Given the description of an element on the screen output the (x, y) to click on. 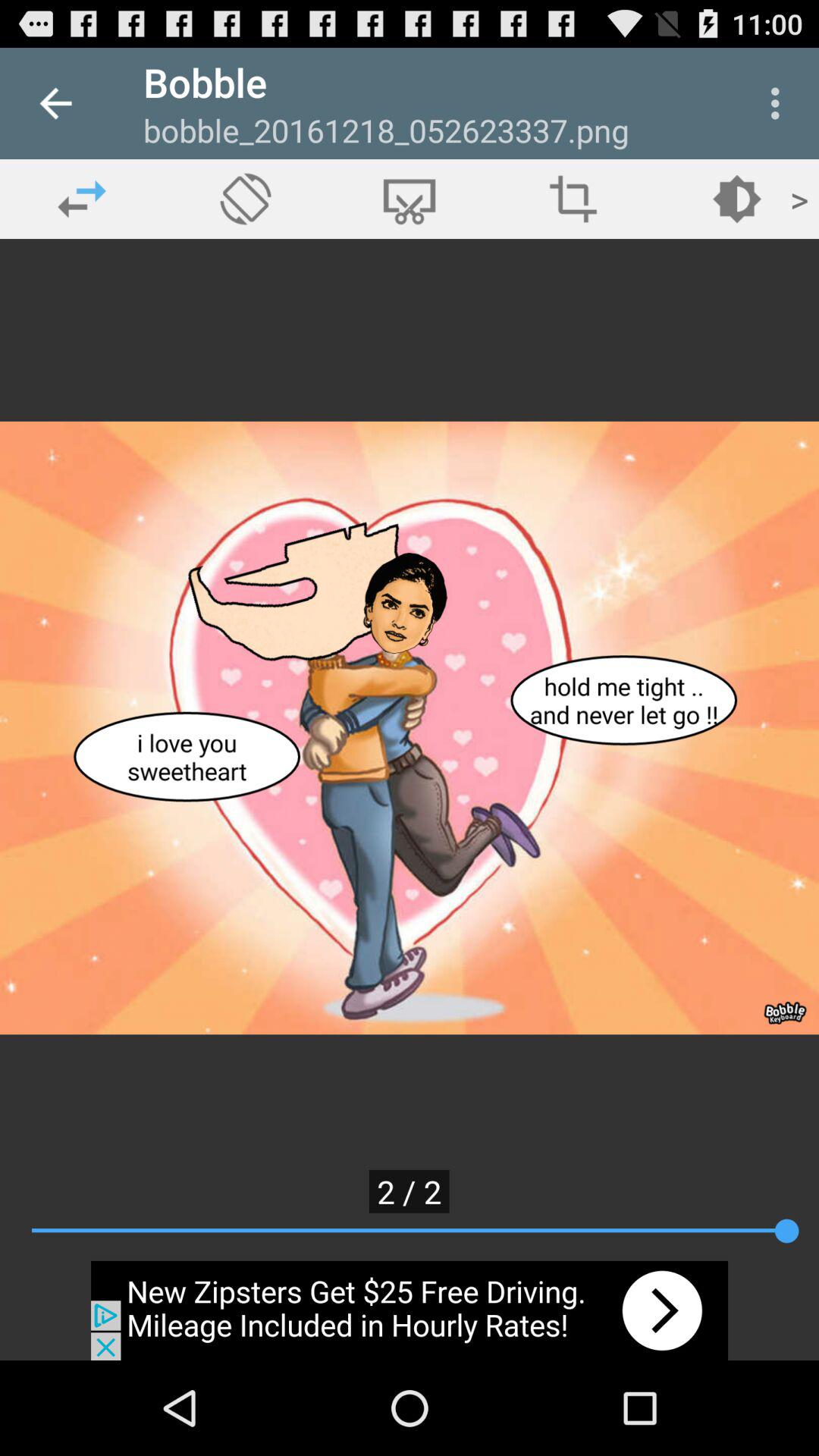
go back (81, 198)
